Given the description of an element on the screen output the (x, y) to click on. 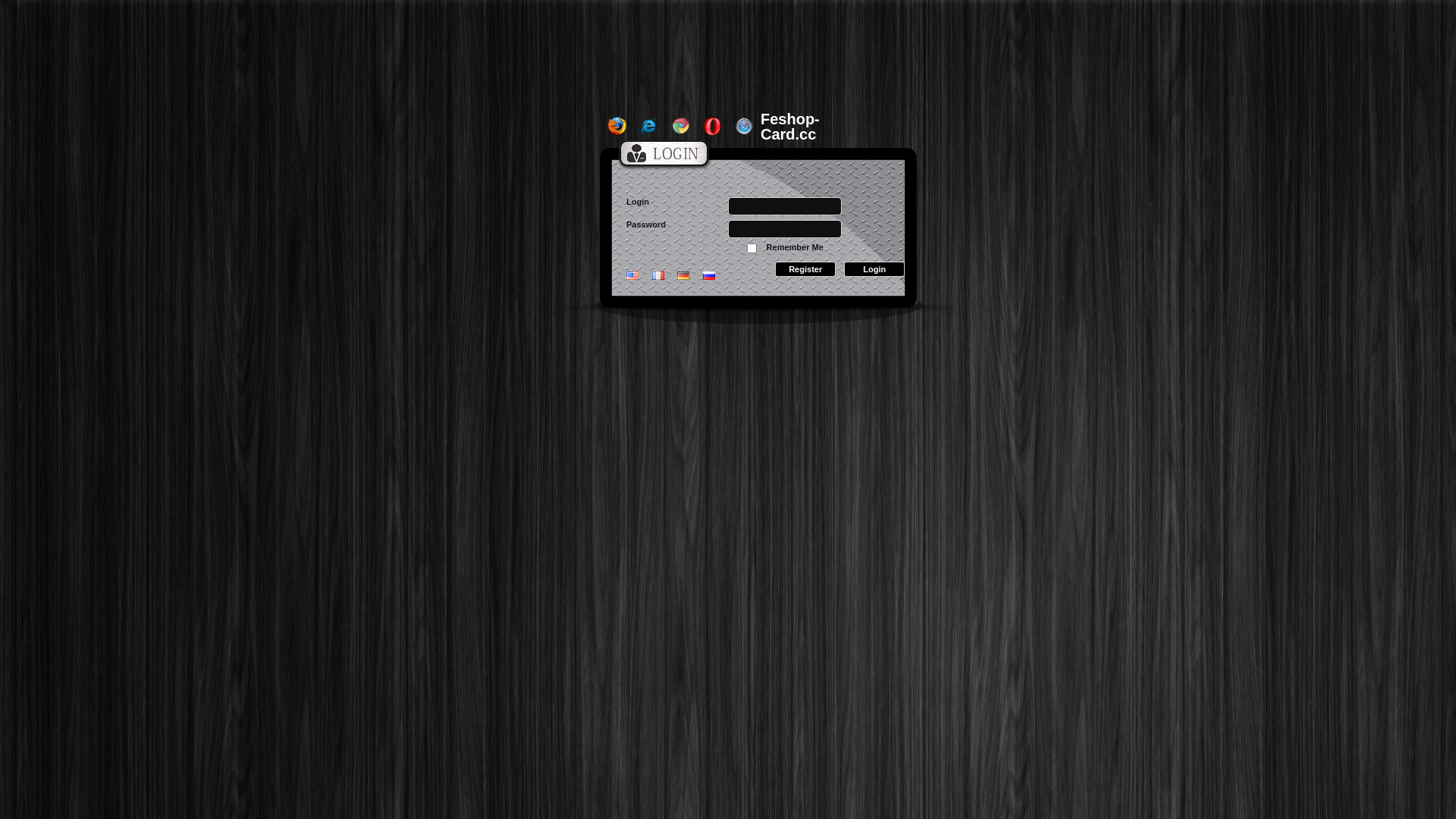
Register Element type: text (805, 268)
Login Element type: text (874, 268)
